Given the description of an element on the screen output the (x, y) to click on. 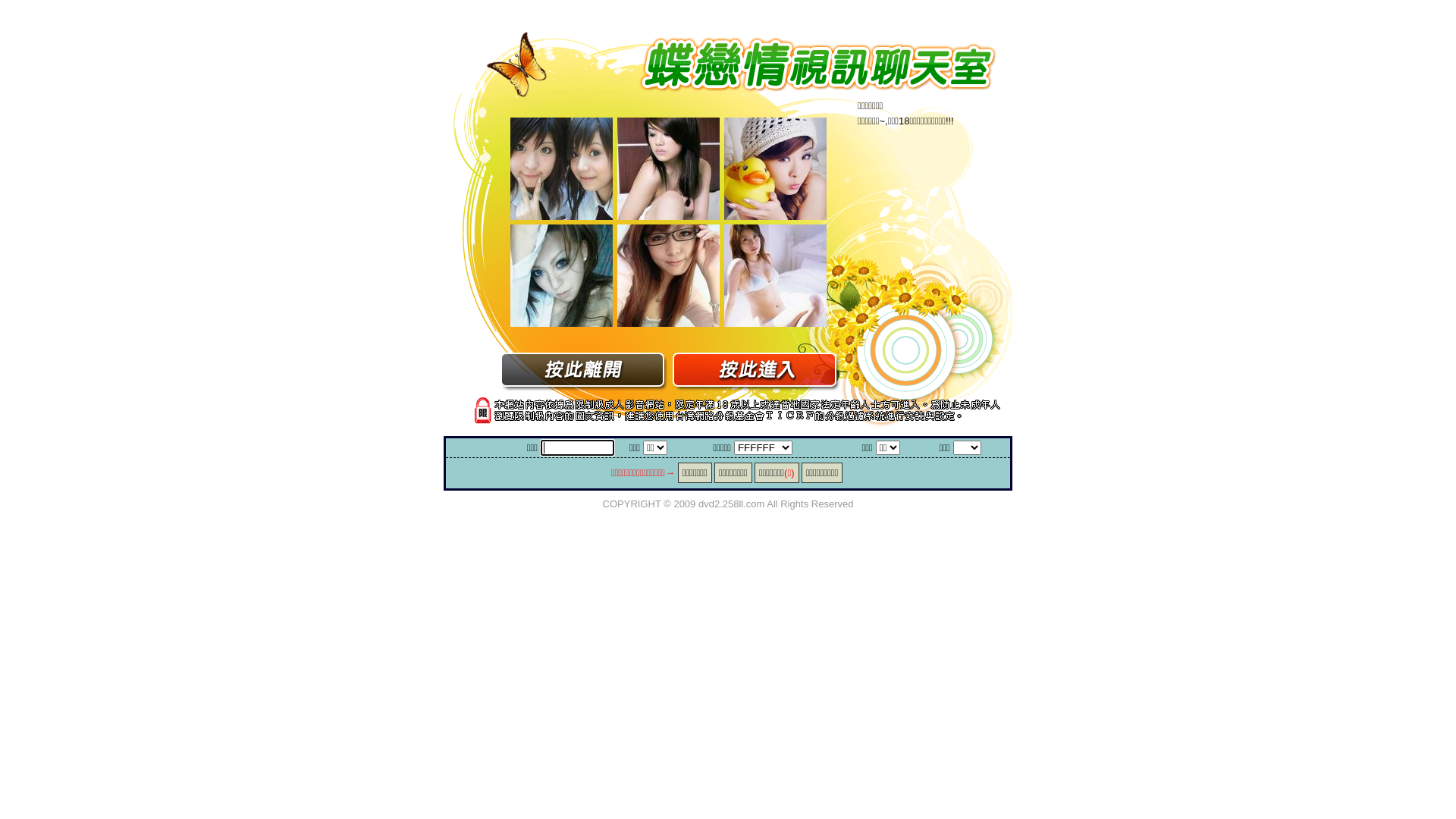
dvd2.258ll.com Element type: text (731, 502)
